Given the description of an element on the screen output the (x, y) to click on. 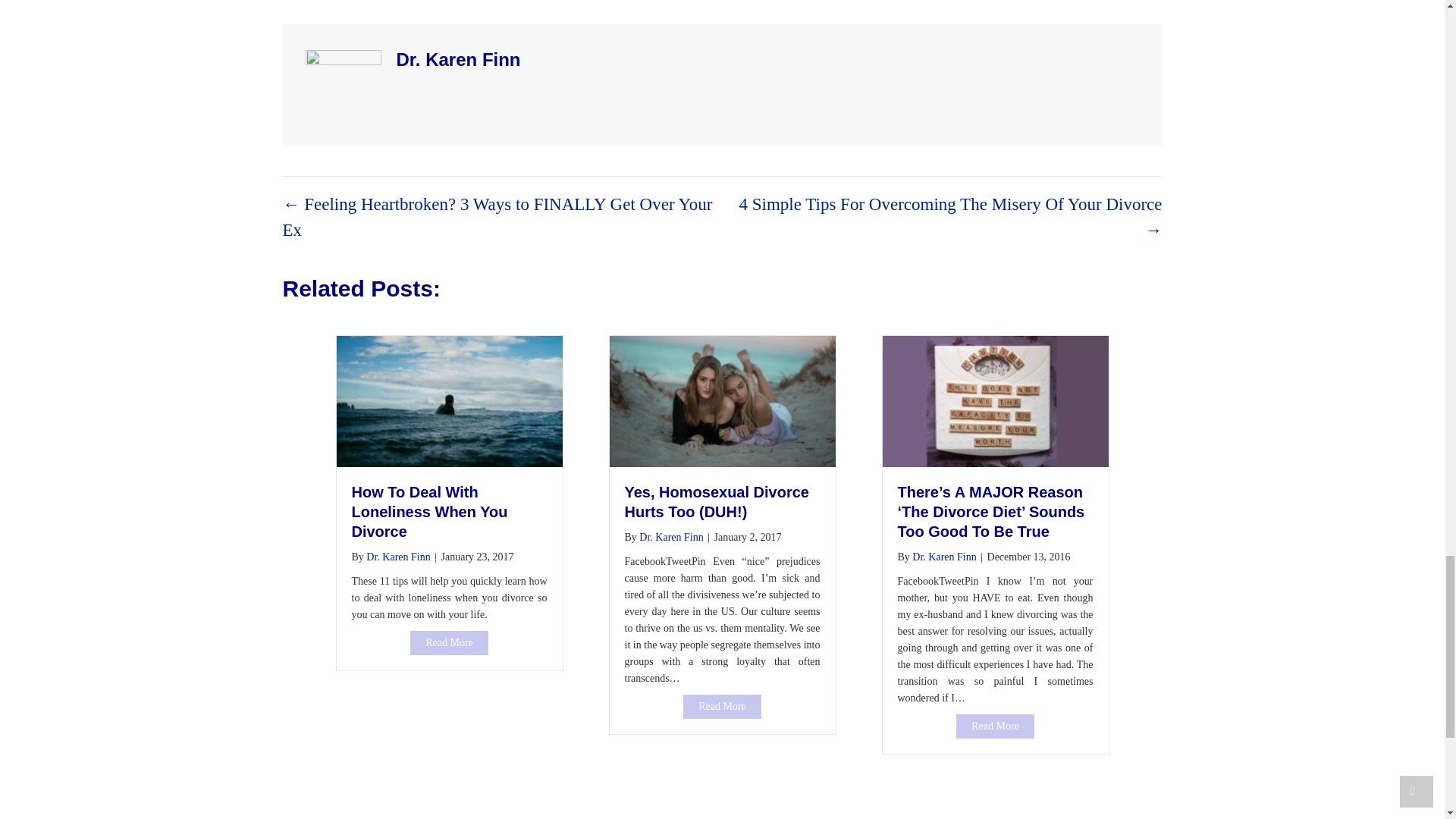
How To Deal With Loneliness When You Divorce (449, 399)
How To Deal With Loneliness When You Divorce (448, 642)
How To Deal With Loneliness When You Divorce (430, 511)
